Given the description of an element on the screen output the (x, y) to click on. 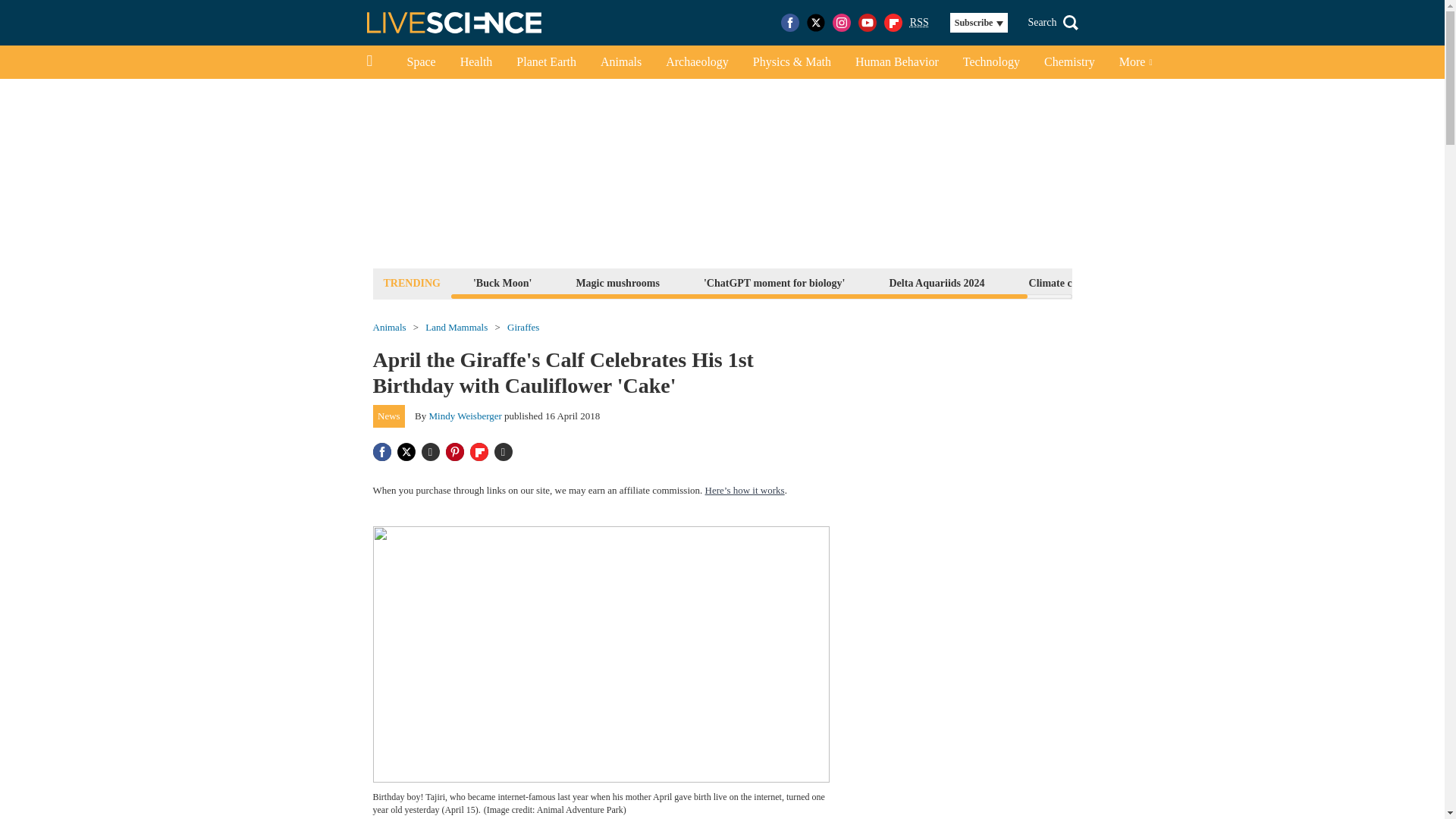
Mindy Weisberger (465, 415)
Technology (991, 61)
Giraffes (522, 327)
Human Behavior (896, 61)
Animals (389, 327)
Animals (620, 61)
Chemistry (1069, 61)
RSS (919, 22)
'Buck Moon' (502, 282)
Archaeology (697, 61)
Really Simple Syndication (919, 21)
Land Mammals (456, 327)
News (389, 415)
Delta Aquariids 2024 (936, 282)
Climate change (1064, 282)
